Given the description of an element on the screen output the (x, y) to click on. 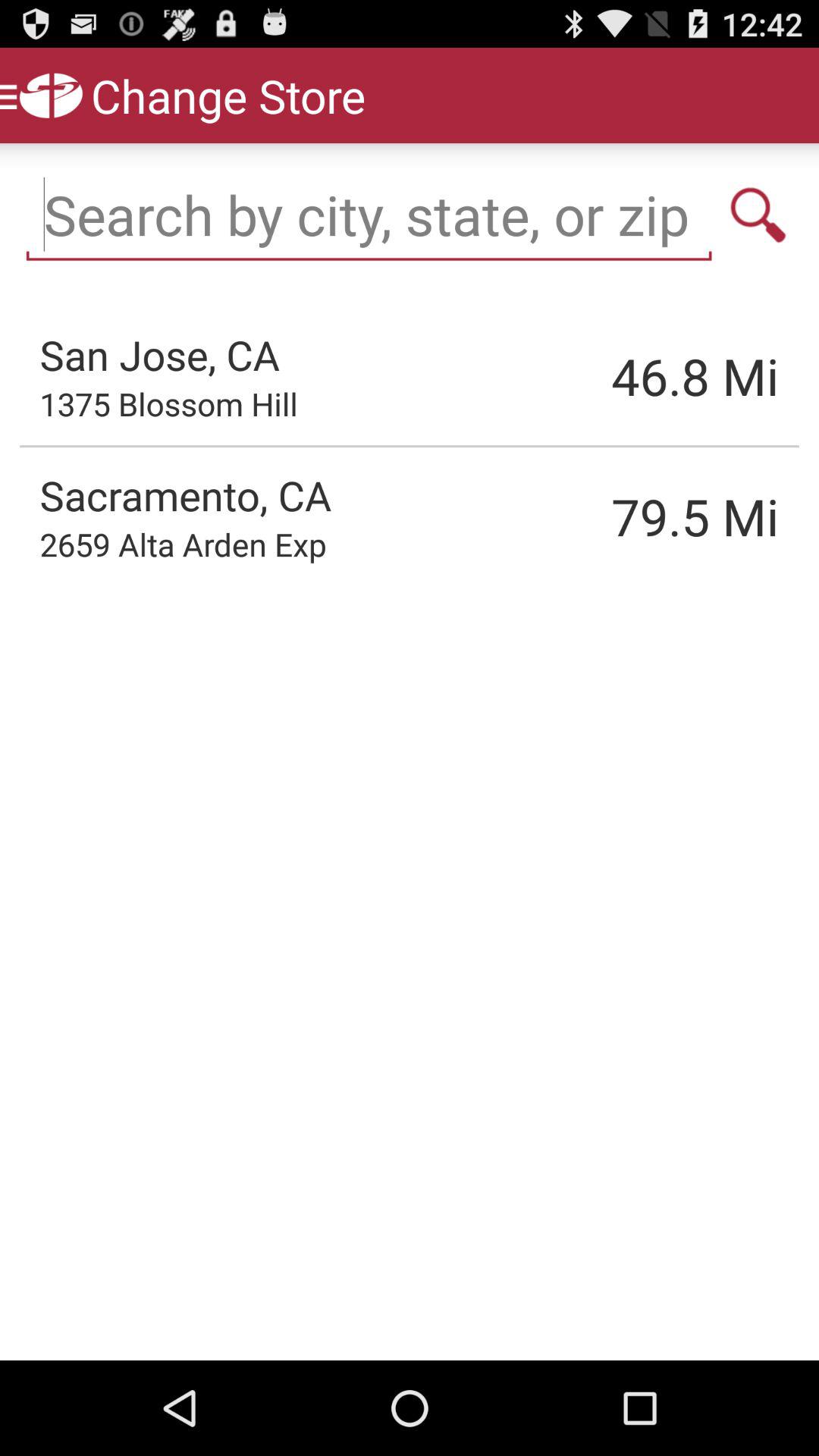
tap the app below san jose, ca app (168, 403)
